Given the description of an element on the screen output the (x, y) to click on. 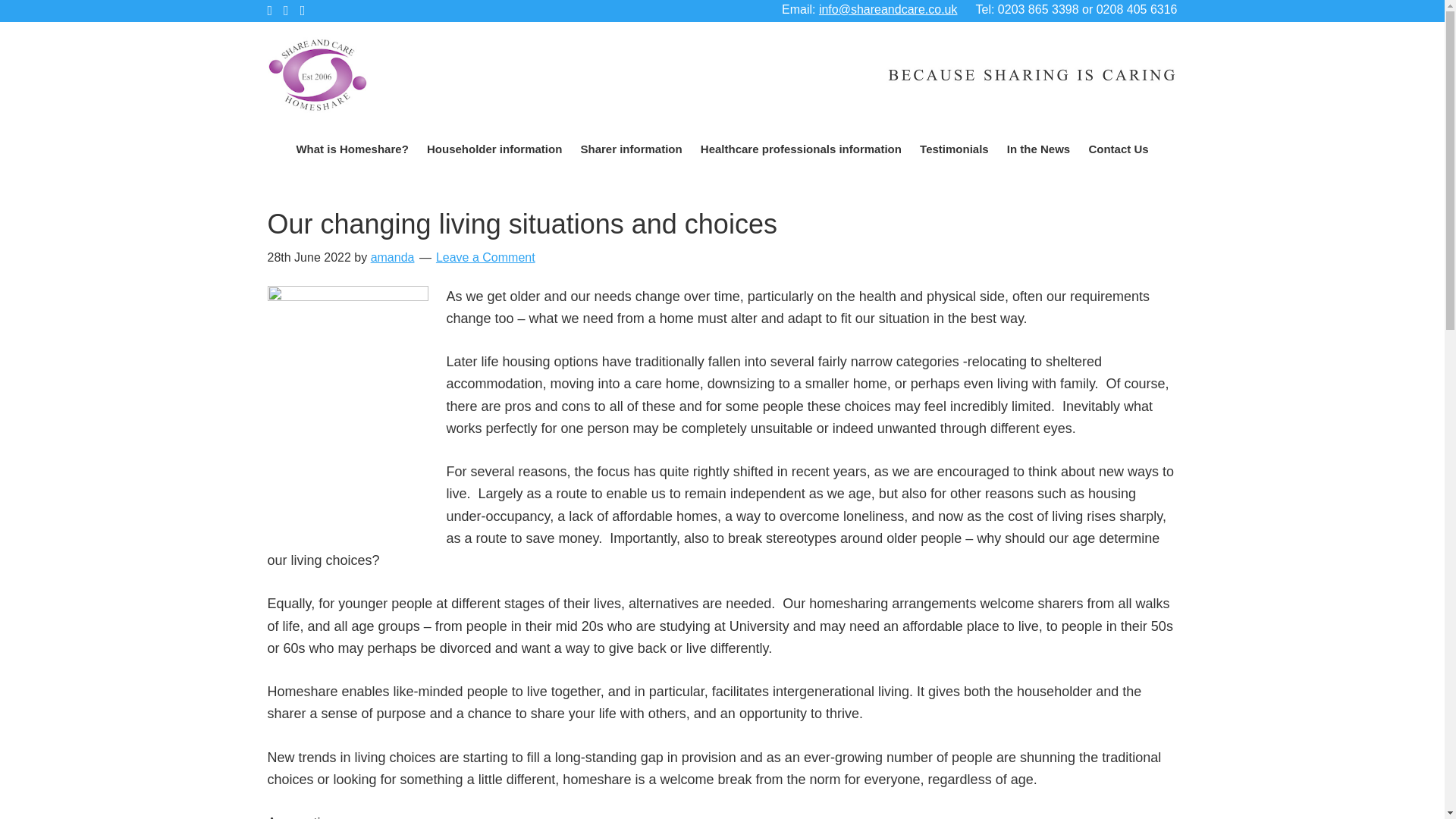
Sharer information (630, 148)
Householder information (494, 148)
Healthcare professionals information (800, 148)
In the News (1037, 148)
Testimonials (953, 148)
amanda (392, 256)
Contact Us (1118, 148)
Leave a Comment (485, 256)
What is Homeshare? (351, 148)
